Given the description of an element on the screen output the (x, y) to click on. 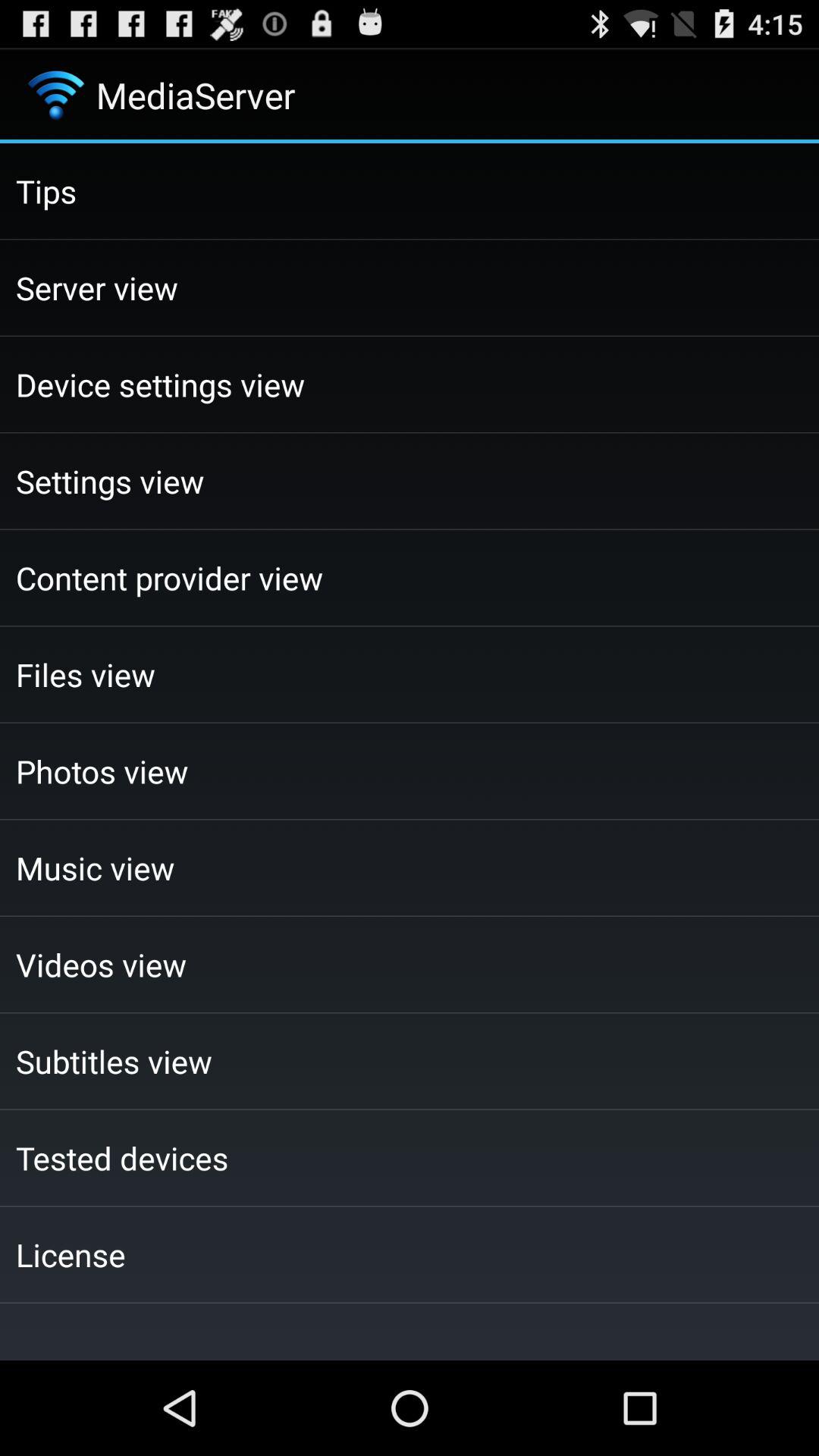
press the checkbox above the server view item (409, 190)
